Given the description of an element on the screen output the (x, y) to click on. 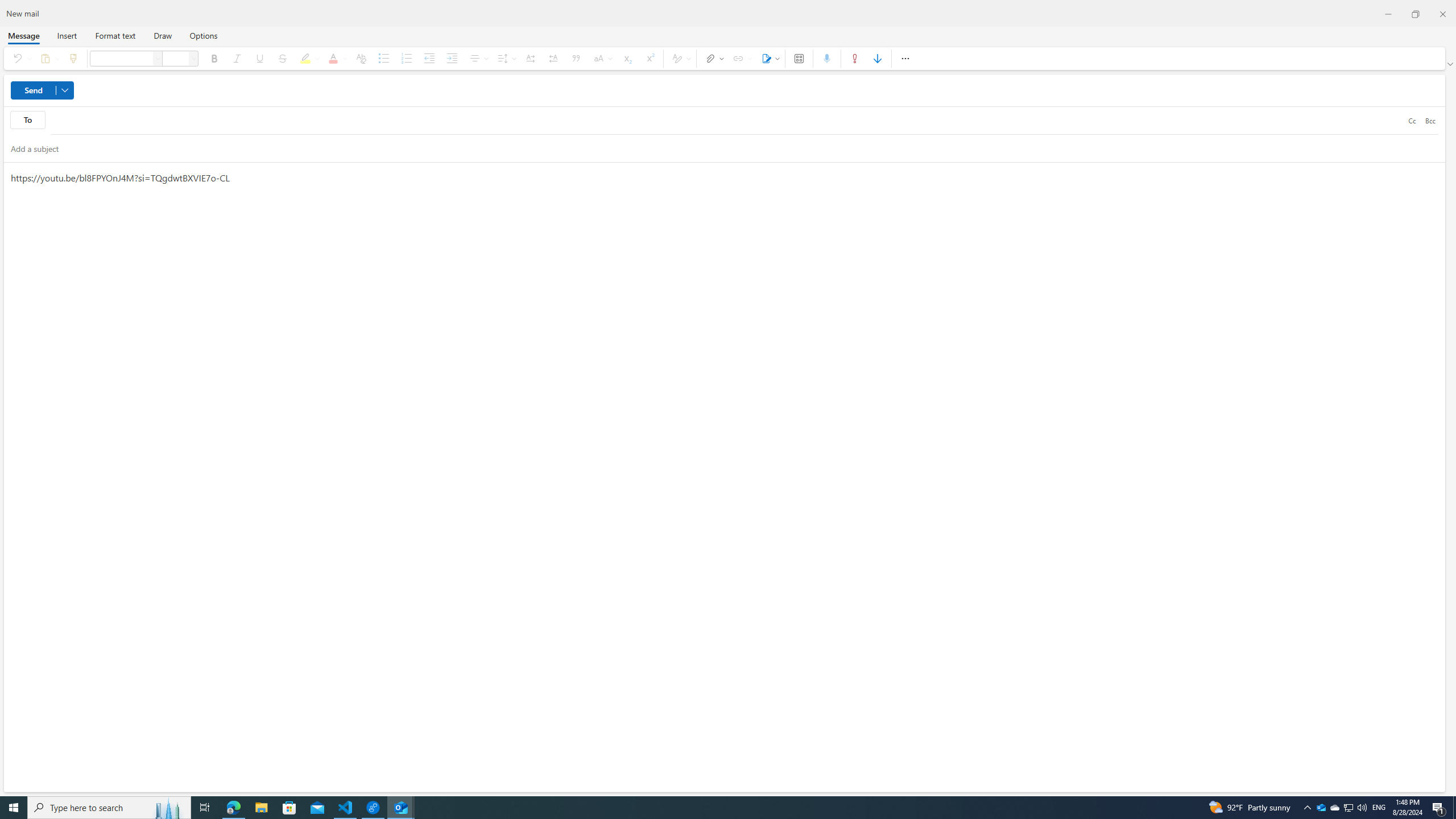
Clear formatting (360, 58)
Undo (19, 58)
Low importance (877, 58)
System (6, 6)
Underline (259, 58)
Draw (162, 35)
To (27, 119)
Attach file (712, 58)
Format painter (73, 58)
Align (477, 58)
Link (740, 58)
Quote (576, 58)
Bold (213, 58)
Add a subject (714, 148)
Font color (335, 58)
